Given the description of an element on the screen output the (x, y) to click on. 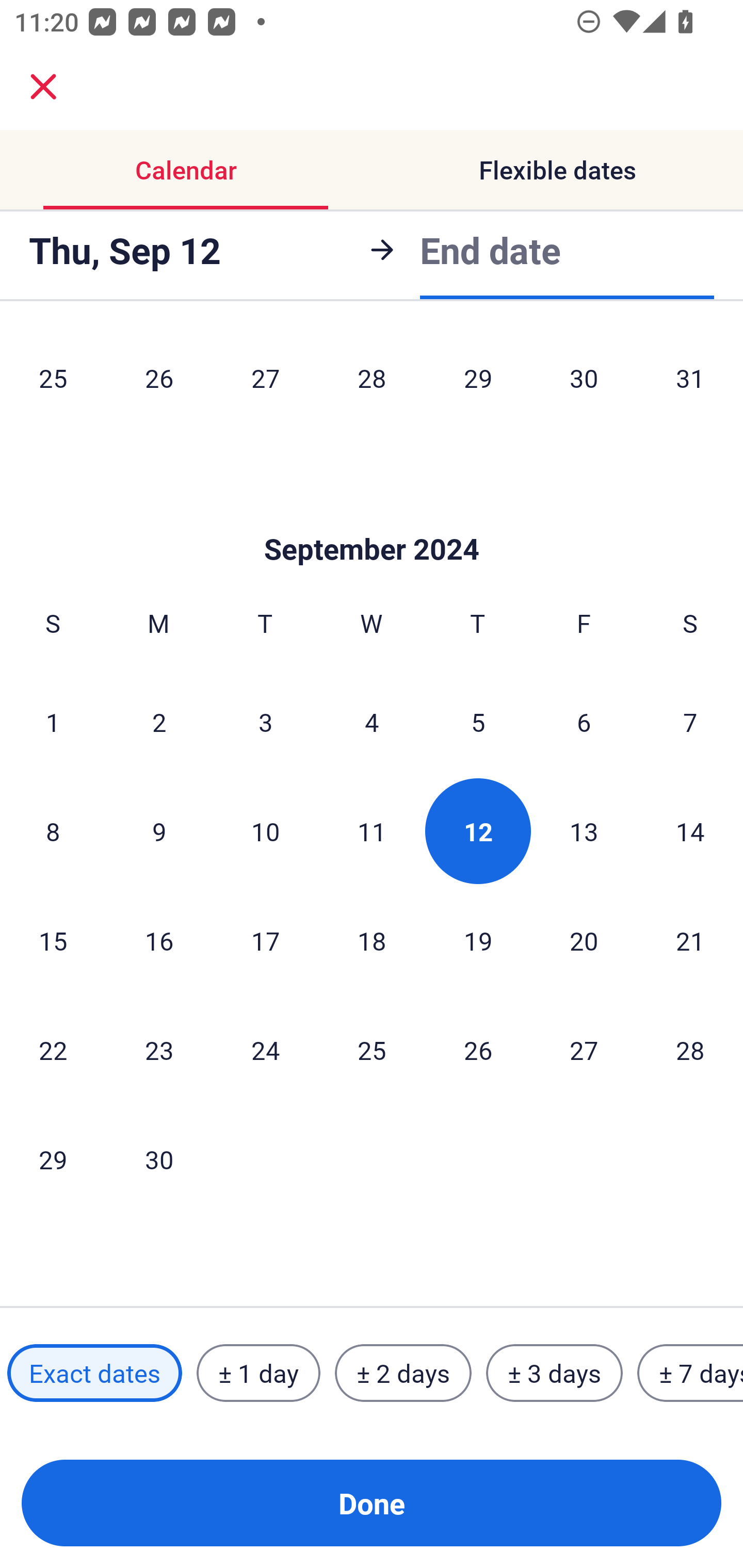
close. (43, 86)
Flexible dates (557, 170)
End date (489, 249)
25 Sunday, August 25, 2024 (53, 380)
26 Monday, August 26, 2024 (159, 380)
27 Tuesday, August 27, 2024 (265, 380)
28 Wednesday, August 28, 2024 (371, 380)
29 Thursday, August 29, 2024 (477, 380)
30 Friday, August 30, 2024 (584, 380)
31 Saturday, August 31, 2024 (690, 380)
Skip to Done (371, 518)
1 Sunday, September 1, 2024 (53, 721)
2 Monday, September 2, 2024 (159, 721)
3 Tuesday, September 3, 2024 (265, 721)
4 Wednesday, September 4, 2024 (371, 721)
5 Thursday, September 5, 2024 (477, 721)
6 Friday, September 6, 2024 (584, 721)
7 Saturday, September 7, 2024 (690, 721)
8 Sunday, September 8, 2024 (53, 830)
9 Monday, September 9, 2024 (159, 830)
